Given the description of an element on the screen output the (x, y) to click on. 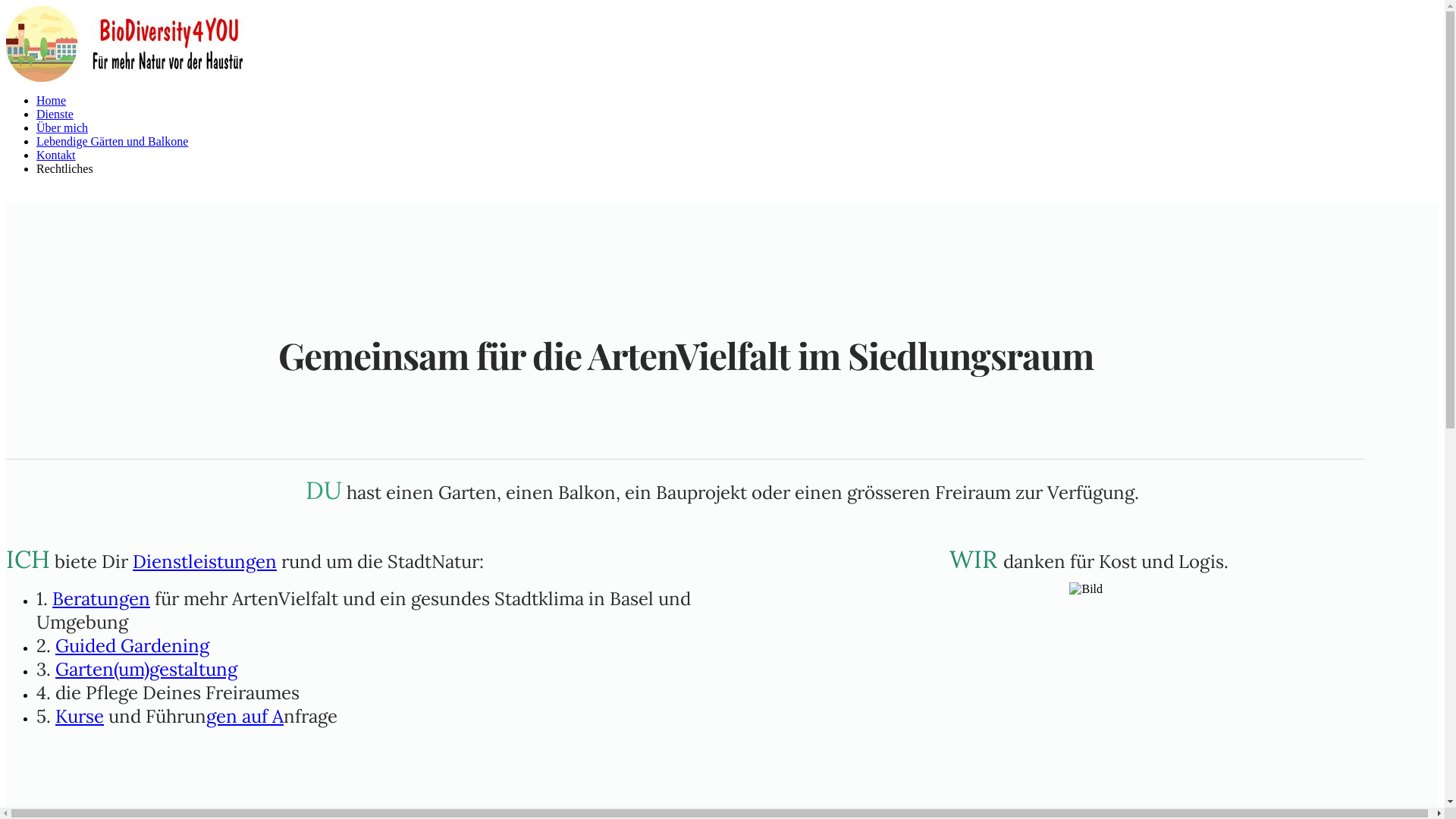
Rechtliches Element type: text (64, 168)
Dienstleistungen Element type: text (204, 561)
gen auf A Element type: text (244, 716)
Kurse Element type: text (79, 716)
Kontakt Element type: text (55, 154)
Dienste Element type: text (54, 113)
Home Element type: text (50, 100)
Garten(um)gestaltung Element type: text (146, 668)
Beratungen Element type: text (101, 598)
Guided Gardening Element type: text (132, 645)
